Given the description of an element on the screen output the (x, y) to click on. 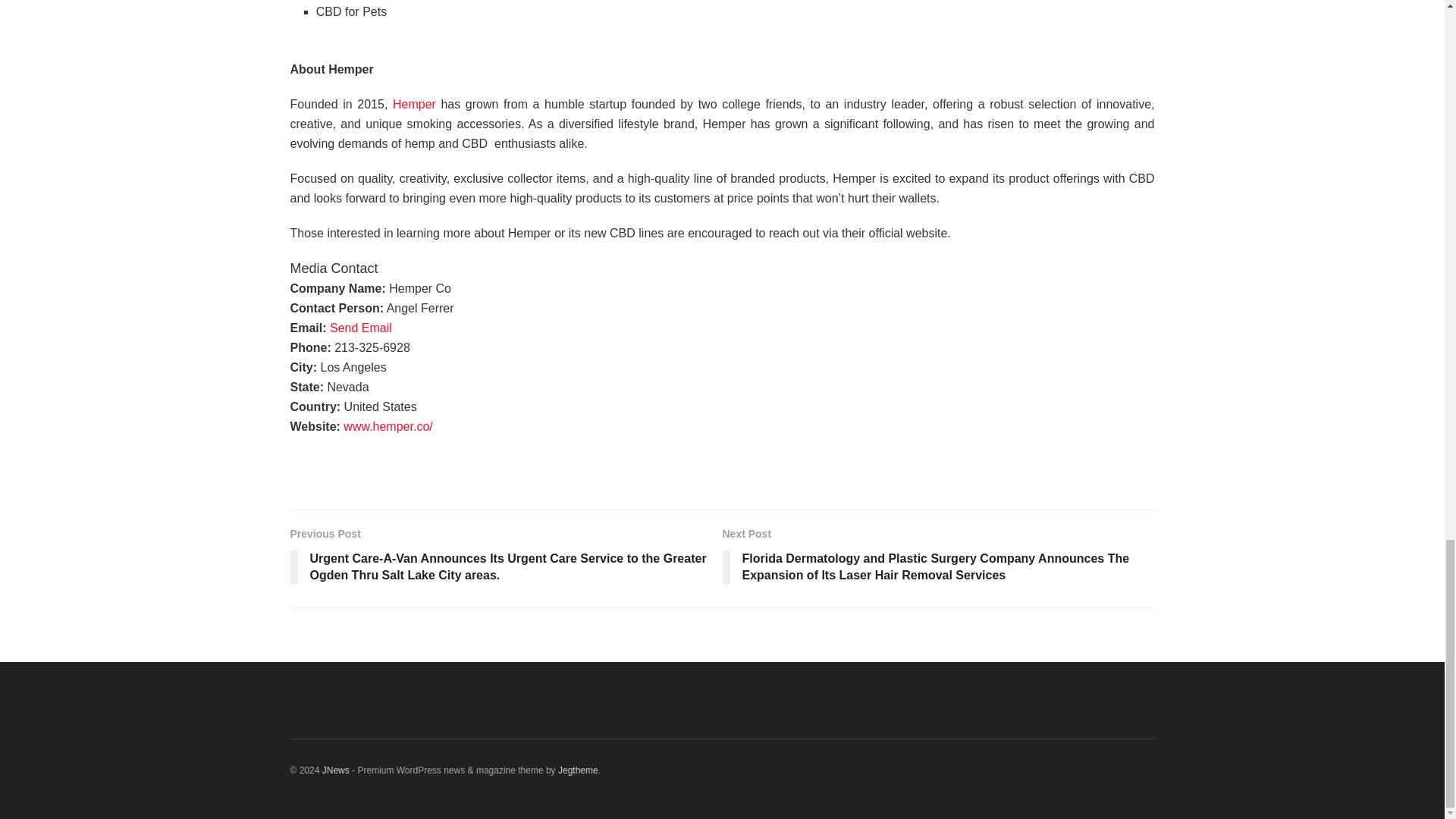
Send Email (360, 327)
Jegtheme (577, 769)
Jegtheme (577, 769)
Hemper (414, 103)
JNews (335, 769)
